Given the description of an element on the screen output the (x, y) to click on. 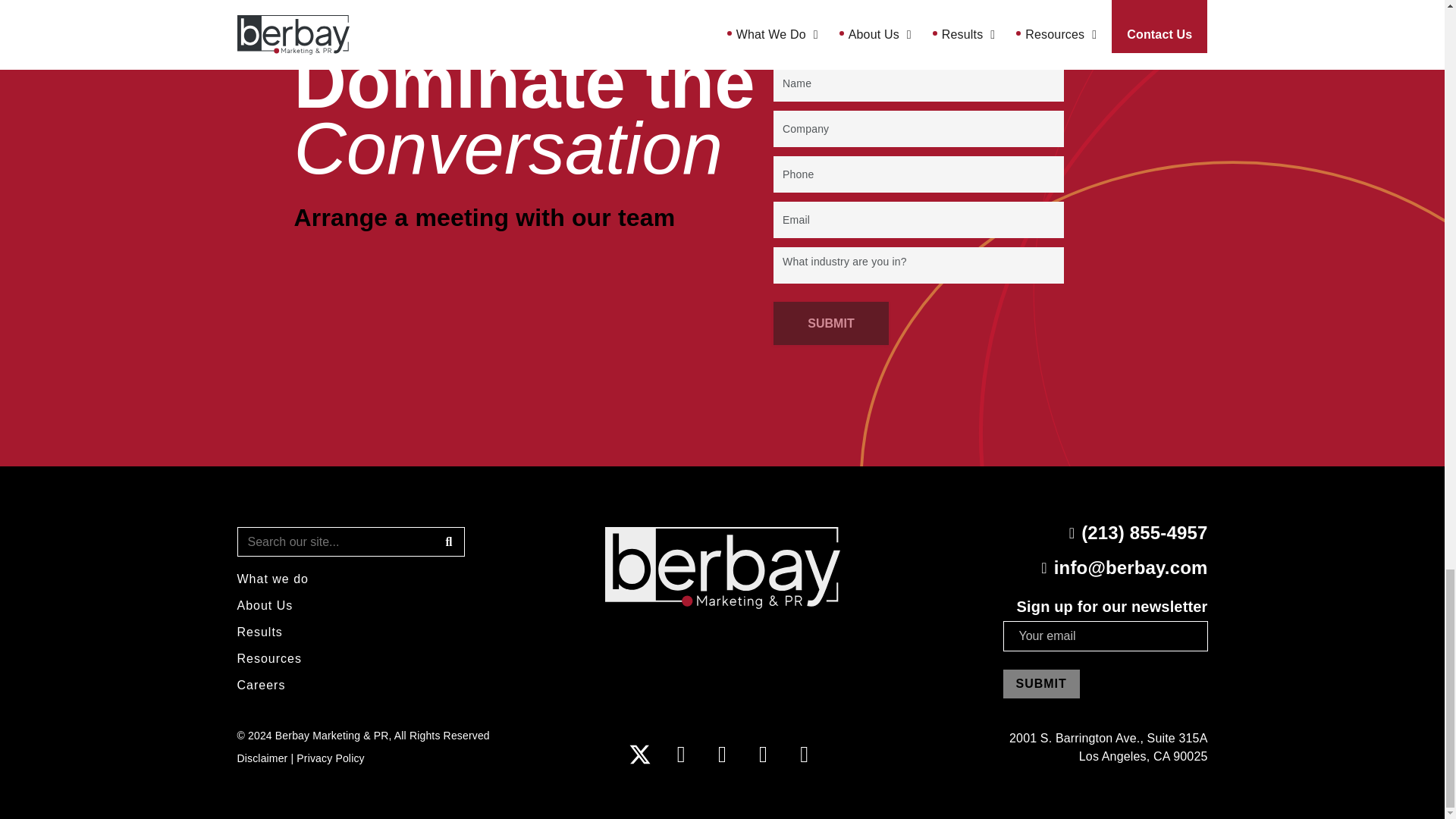
Submit (830, 323)
Submit (1040, 683)
